Given the description of an element on the screen output the (x, y) to click on. 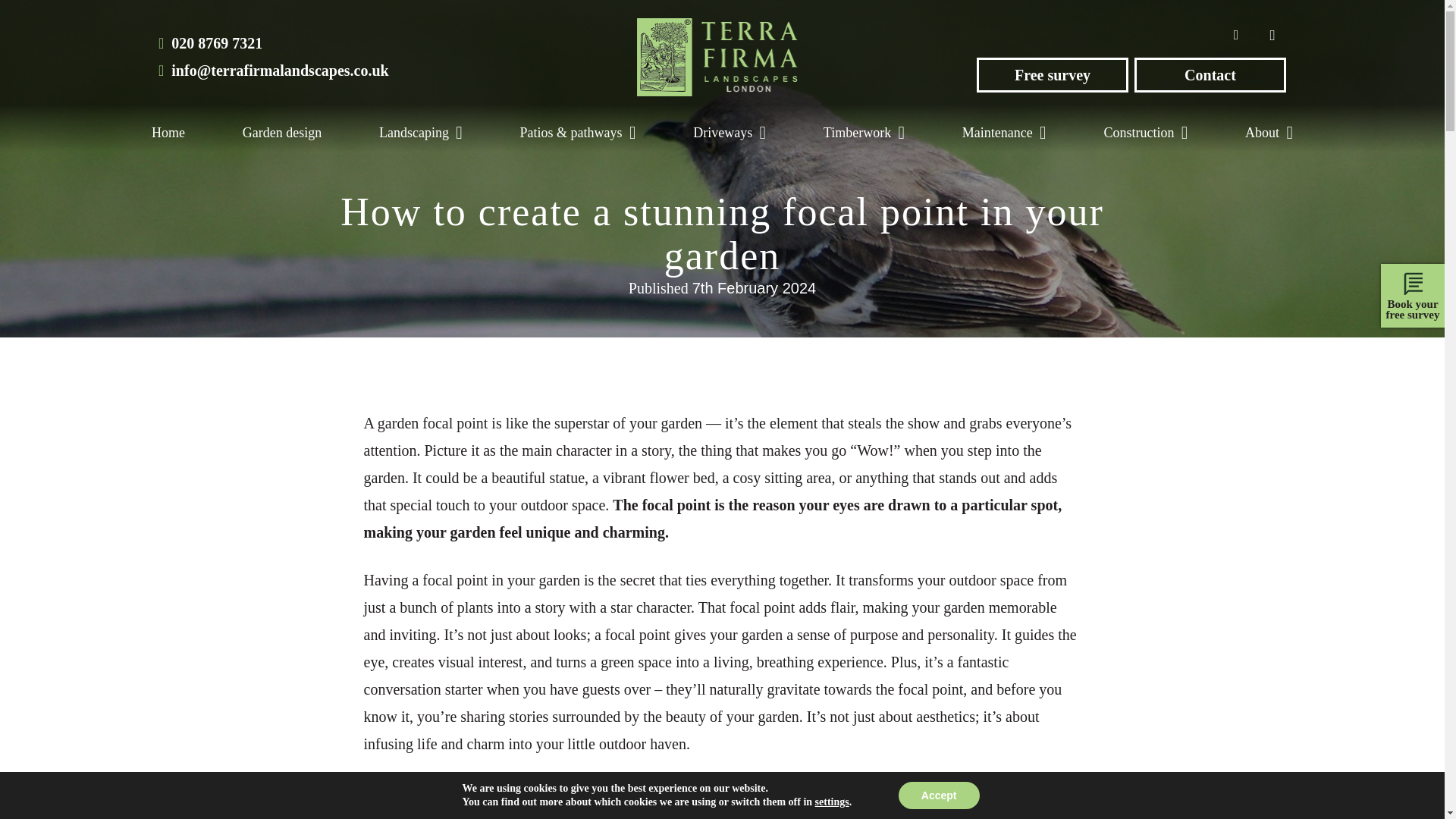
020 8769 7321 (273, 42)
Contact (1209, 74)
Instagram (1272, 34)
Timberwork (863, 132)
Garden design (282, 132)
About (1268, 132)
Construction (1144, 132)
Maintenance (1003, 132)
Facebook (1236, 34)
Free survey (1052, 74)
Landscaping (420, 132)
Driveways (729, 132)
Home (167, 132)
